Given the description of an element on the screen output the (x, y) to click on. 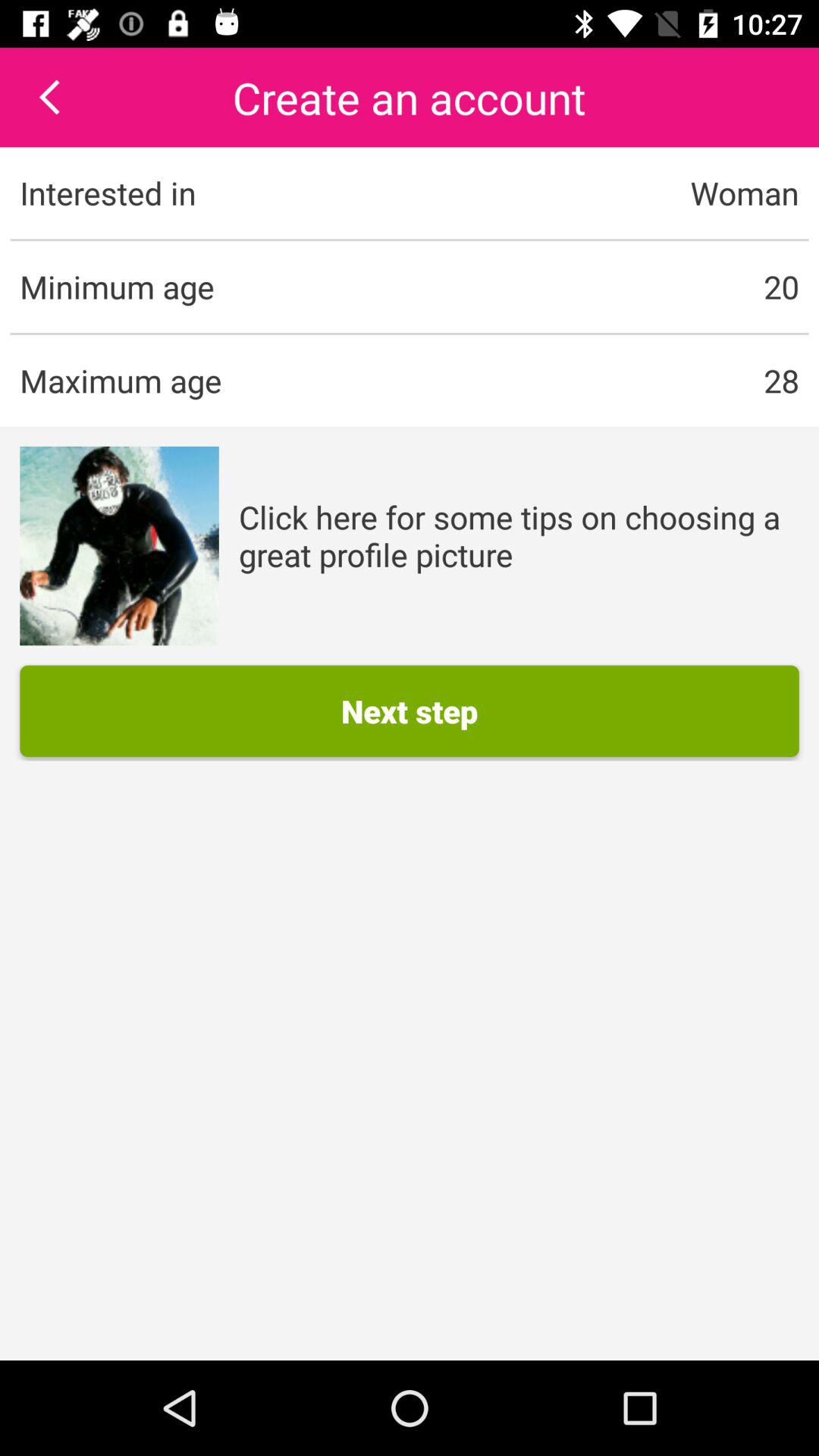
select icon to the left of click here for item (118, 545)
